Given the description of an element on the screen output the (x, y) to click on. 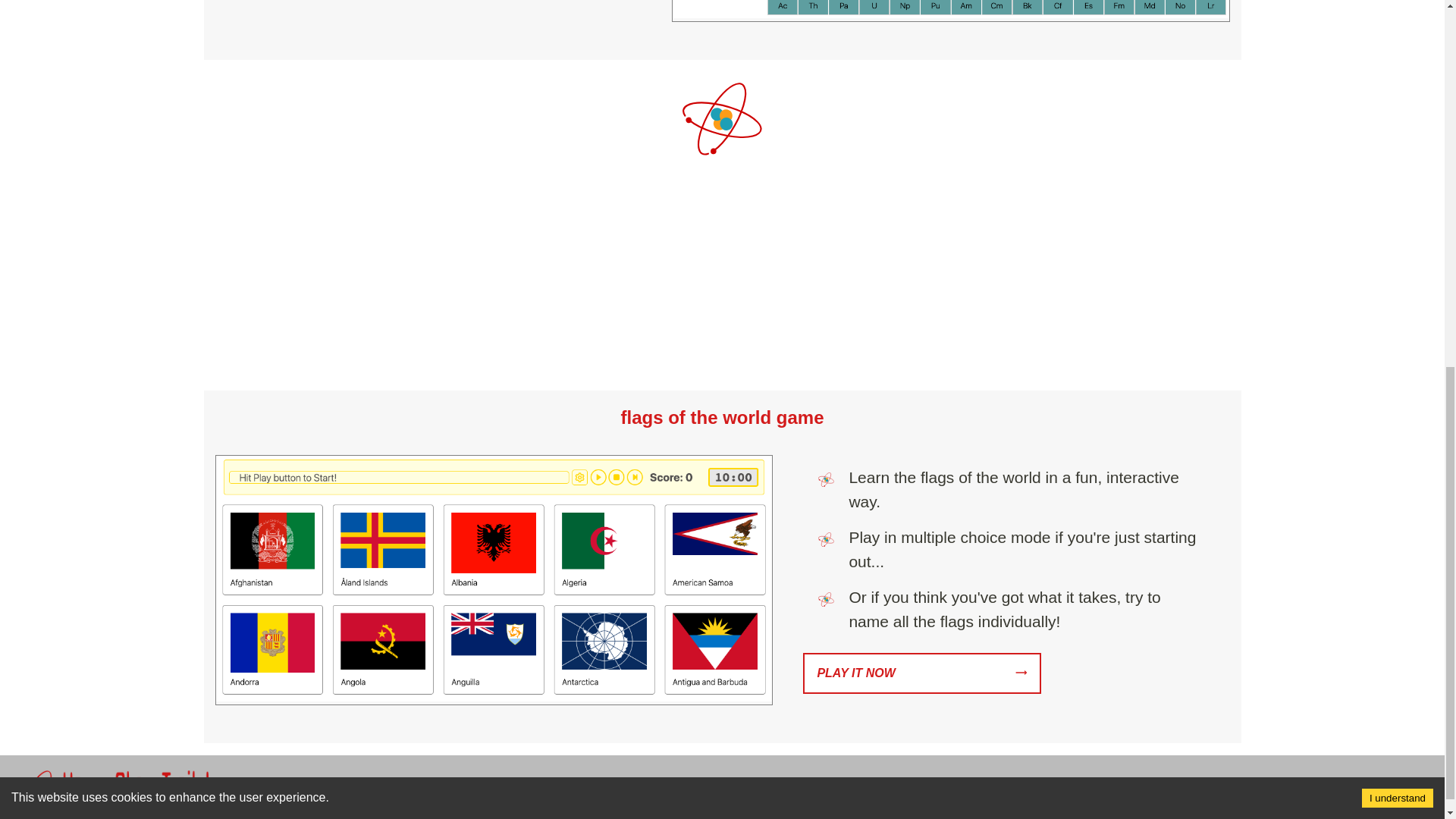
Privacy Policy (774, 794)
I understand (1396, 122)
